Given the description of an element on the screen output the (x, y) to click on. 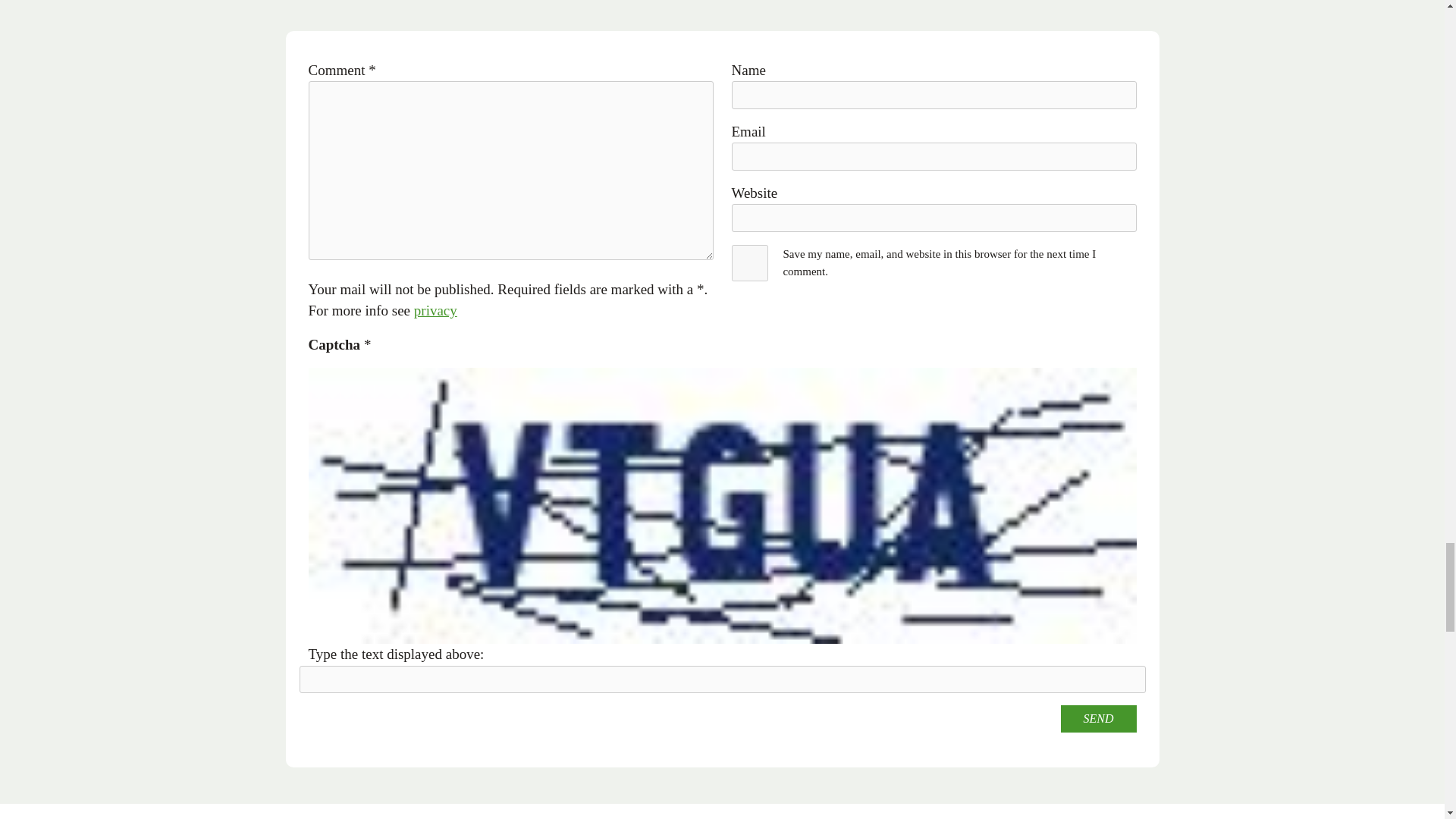
yes (749, 262)
send (1097, 718)
